Given the description of an element on the screen output the (x, y) to click on. 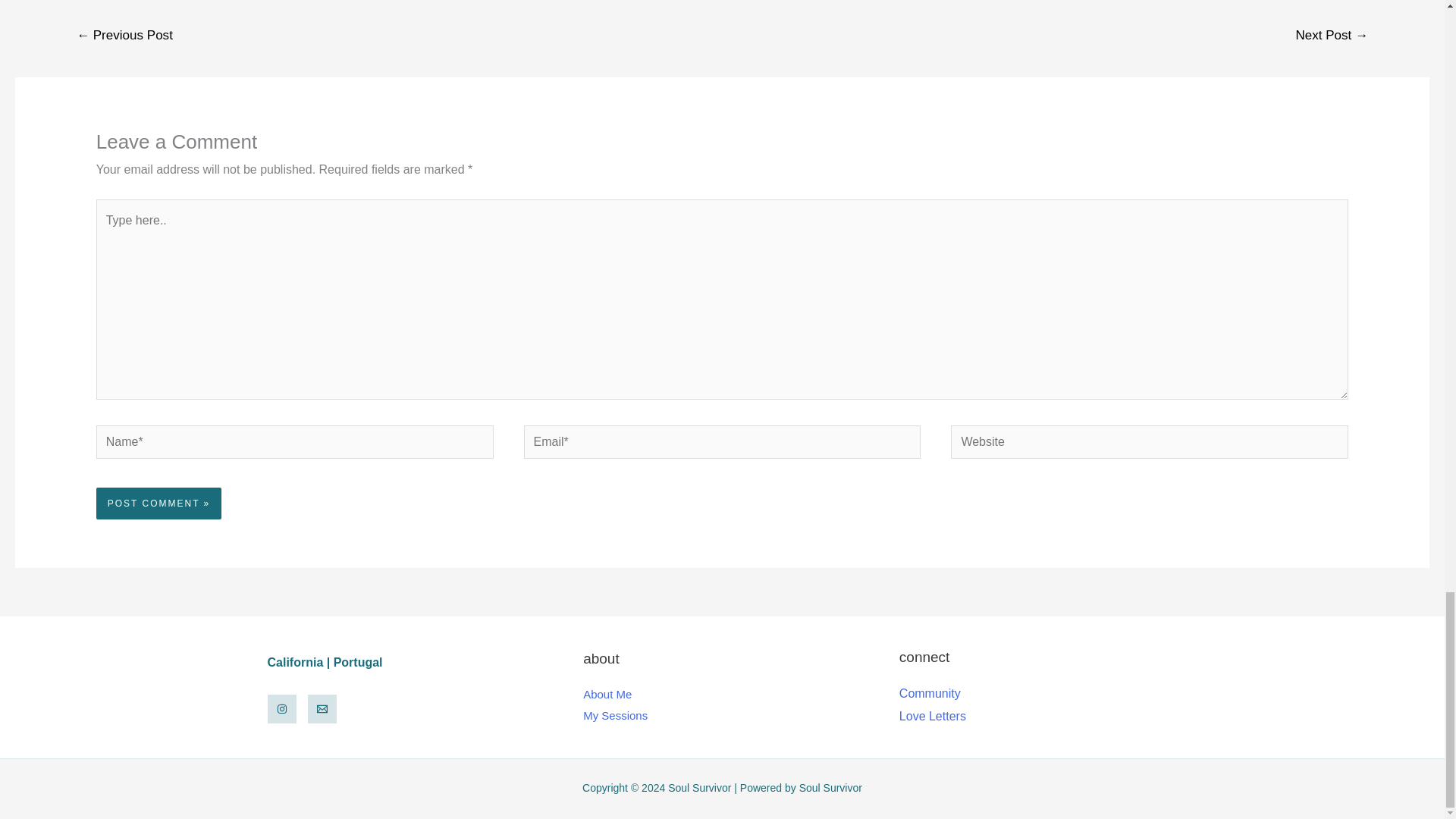
About Me (607, 694)
My Sessions (615, 715)
Love Letters (932, 716)
Community (929, 693)
